Given the description of an element on the screen output the (x, y) to click on. 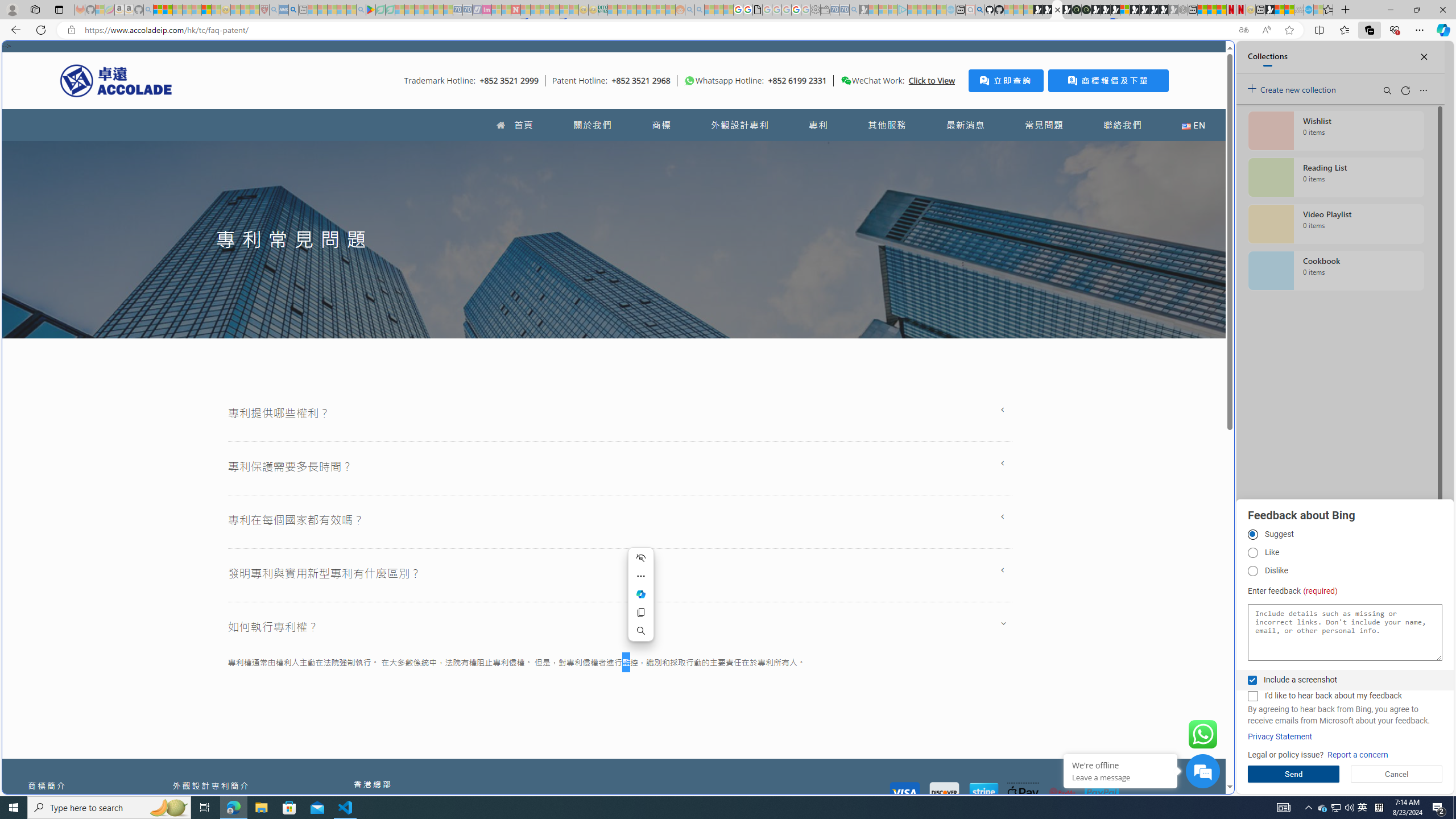
google_privacy_policy_zh-CN.pdf (757, 9)
Tabs you've opened (885, 151)
